Given the description of an element on the screen output the (x, y) to click on. 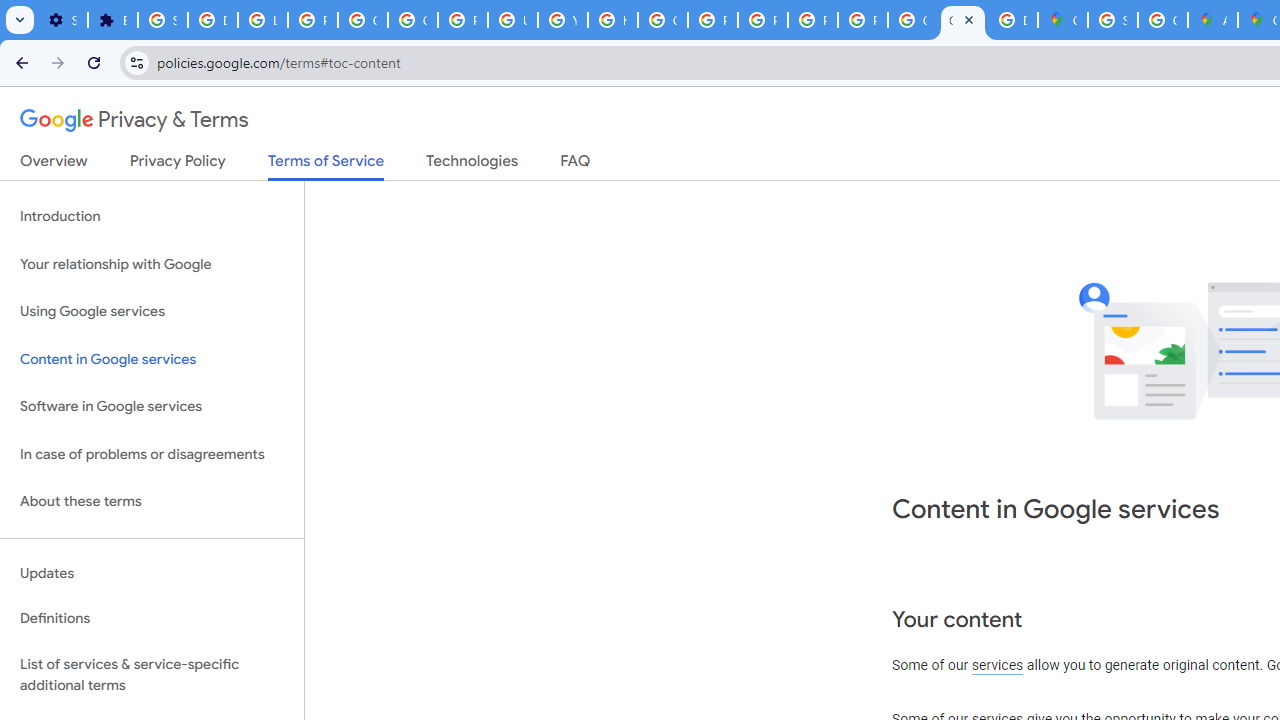
In case of problems or disagreements (152, 453)
Software in Google services (152, 407)
Delete photos & videos - Computer - Google Photos Help (213, 20)
Google Maps (1062, 20)
Settings - On startup (62, 20)
Using Google services (152, 312)
